Given the description of an element on the screen output the (x, y) to click on. 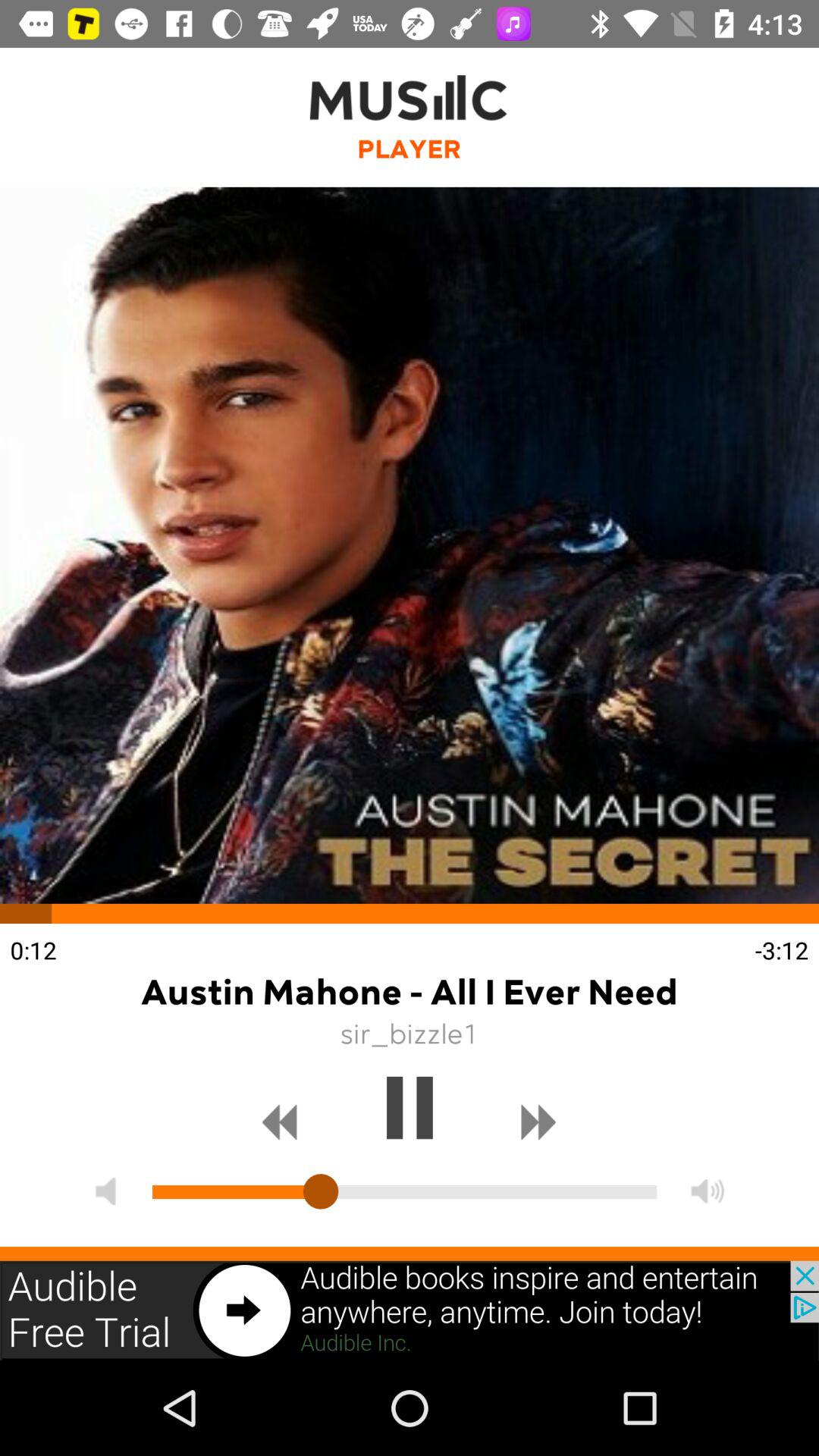
add the option (409, 1310)
